Given the description of an element on the screen output the (x, y) to click on. 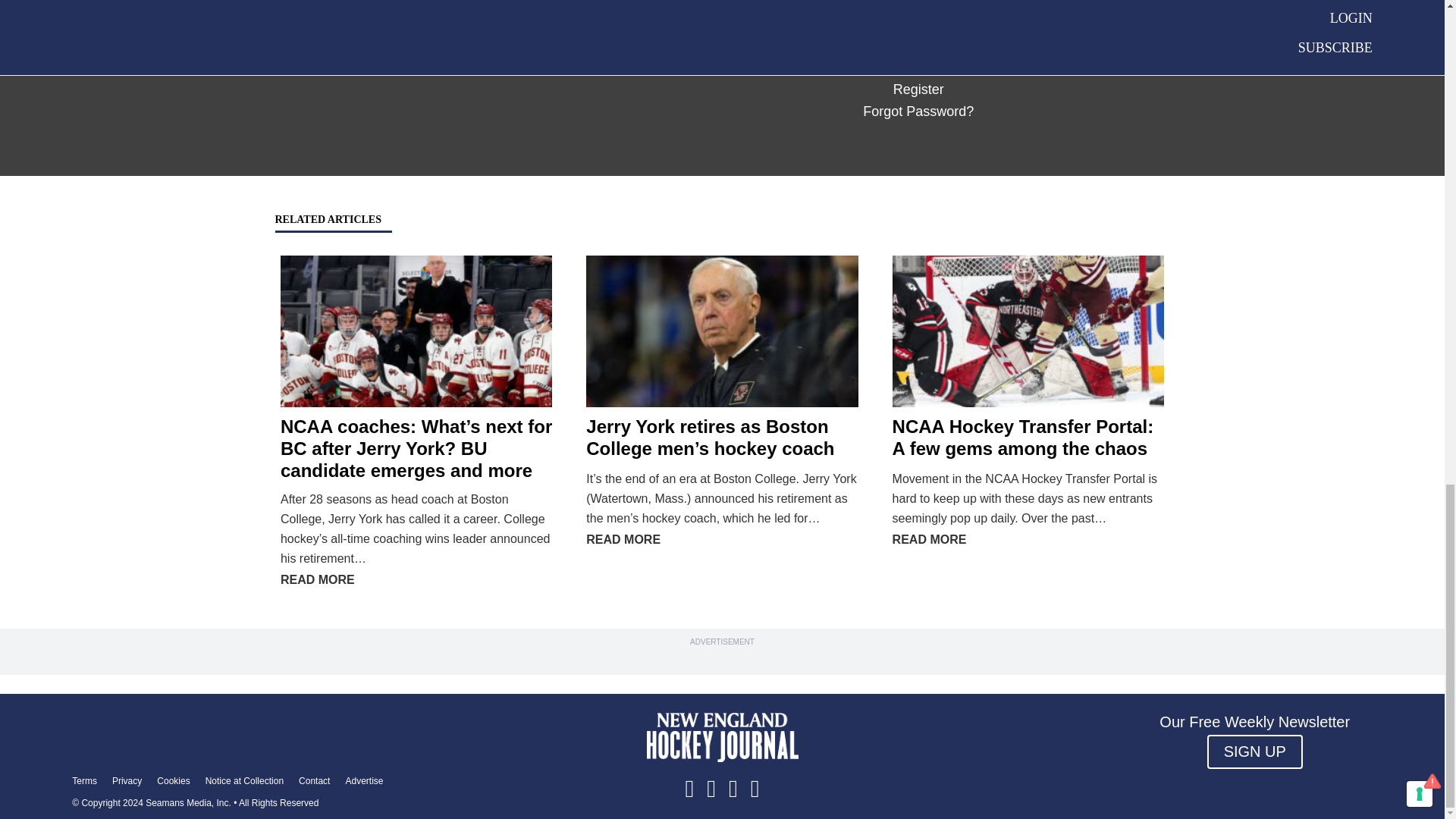
Forgot Password? (918, 111)
Login (860, 41)
NCAA Hockey Transfer Portal: A few gems among the chaos (1023, 437)
SIGN UP (1255, 751)
Advertise (363, 780)
READ MORE (318, 579)
Forgot Password? (918, 111)
Cookies (173, 780)
Register (918, 89)
Notice at Collection (244, 780)
SIGN UP (1255, 752)
Login (860, 41)
Terms (84, 780)
Contact (314, 780)
